Given the description of an element on the screen output the (x, y) to click on. 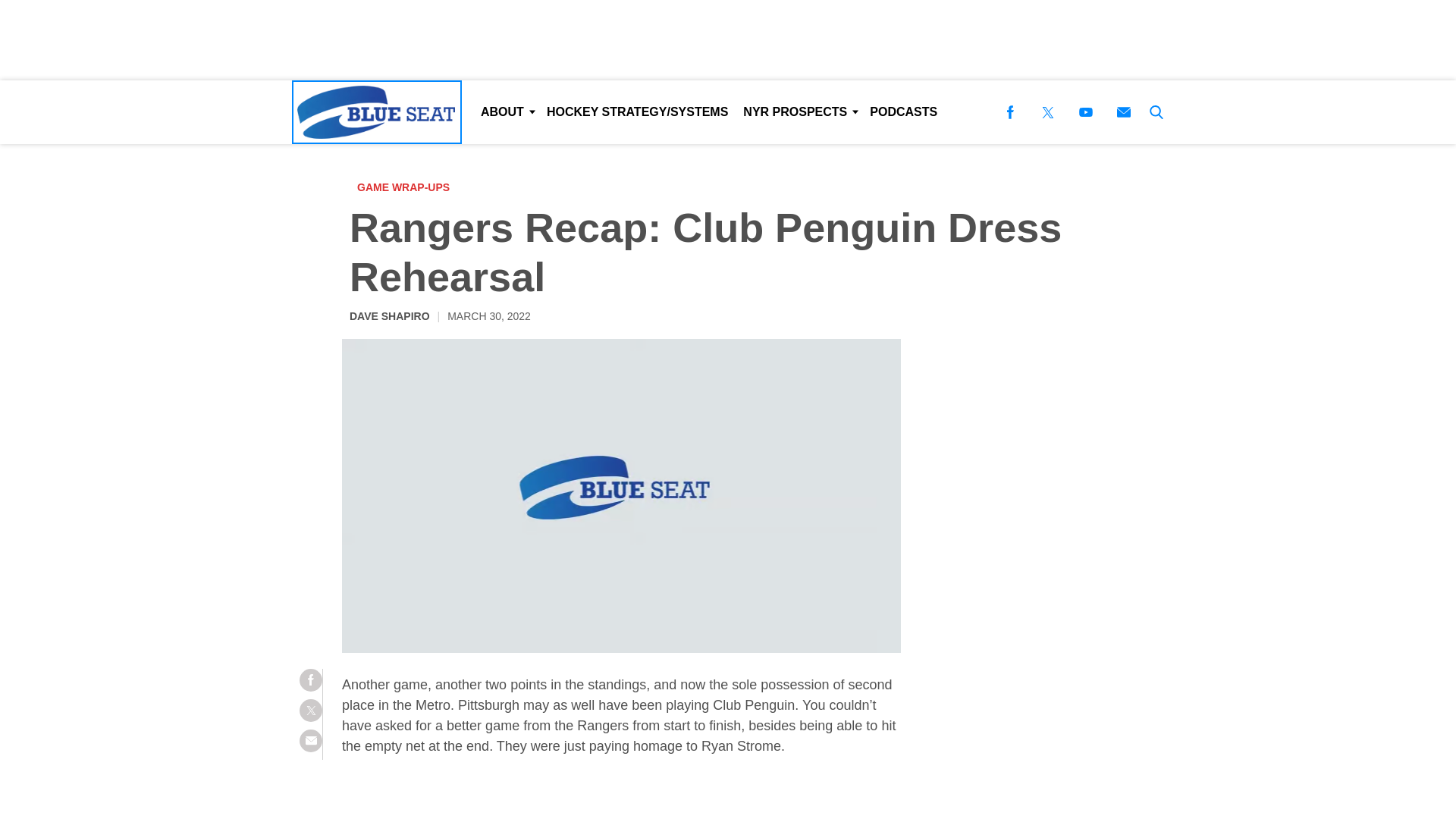
DAVE SHAPIRO (389, 315)
Share on Facebook (310, 680)
PODCASTS (902, 112)
Share via Email (310, 740)
ABOUT (505, 112)
Share on Twitter (310, 710)
NYR PROSPECTS (798, 112)
Posts by Dave Shapiro (389, 315)
GAME WRAP-UPS (406, 187)
